Given the description of an element on the screen output the (x, y) to click on. 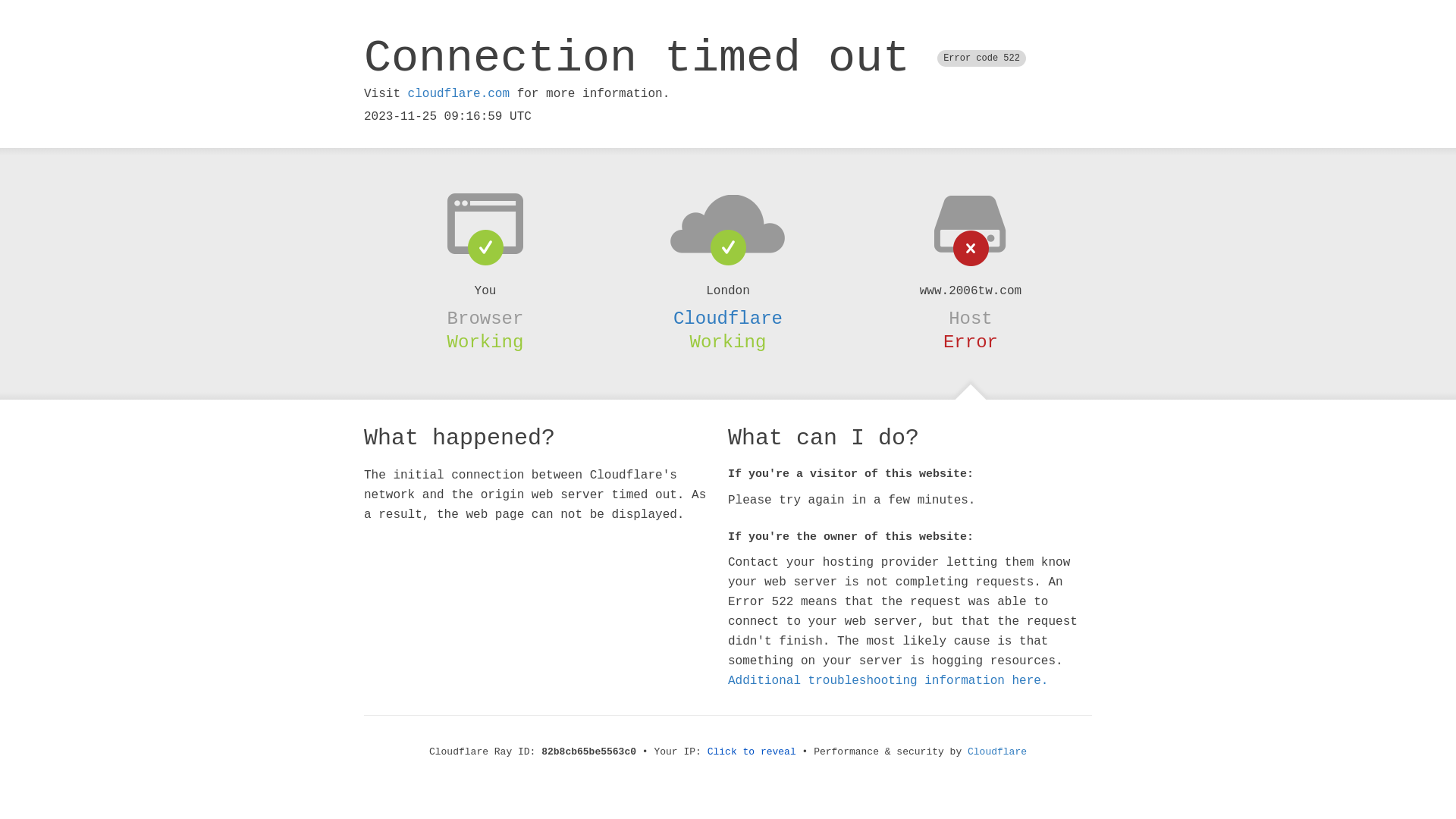
cloudflare.com Element type: text (458, 93)
Click to reveal Element type: text (751, 751)
Additional troubleshooting information here. Element type: text (888, 680)
Cloudflare Element type: text (996, 751)
Cloudflare Element type: text (727, 318)
